Given the description of an element on the screen output the (x, y) to click on. 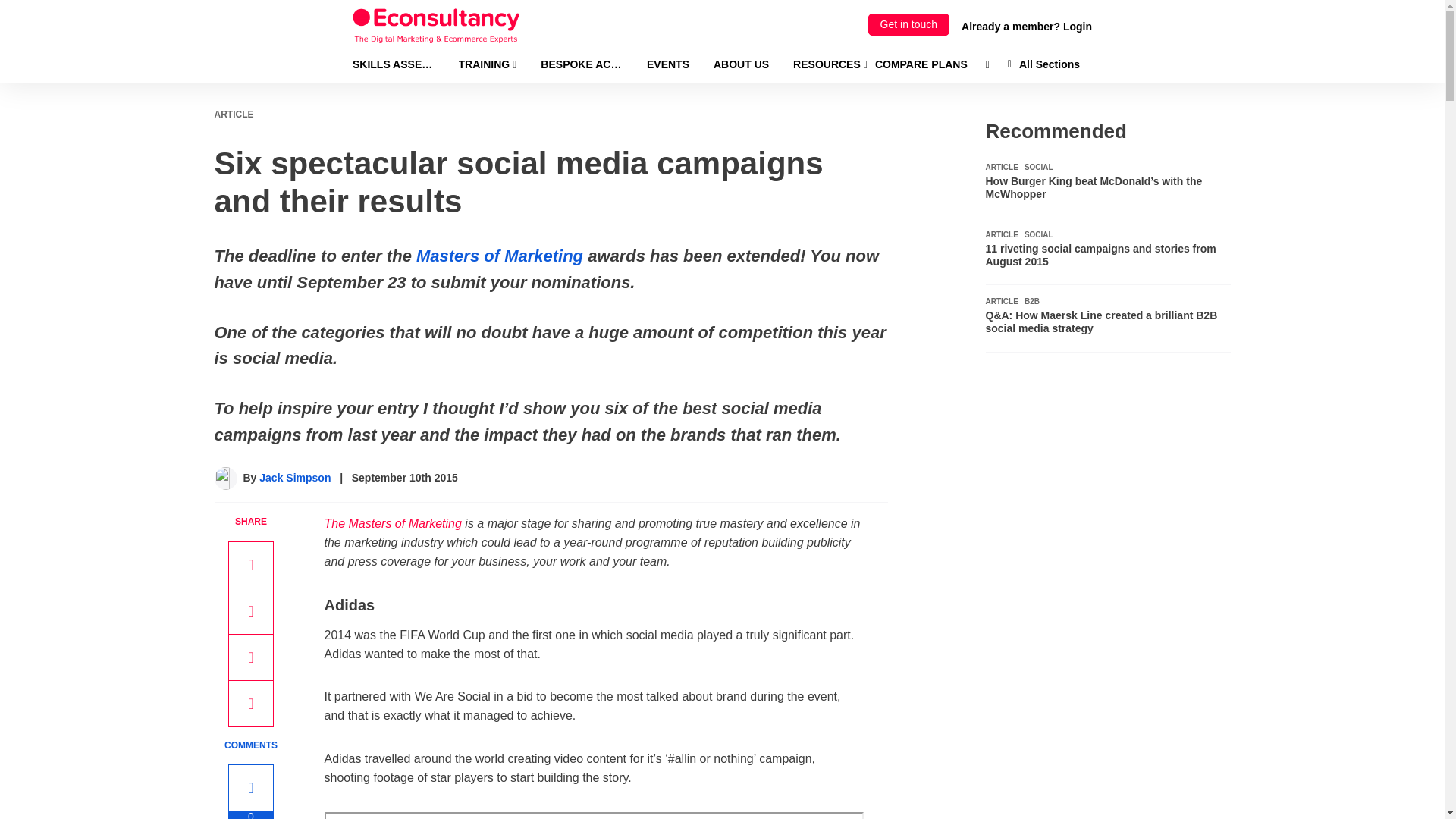
ABOUT US (740, 64)
Already a member? Login (1026, 26)
EVENTS (667, 64)
TRAINING (487, 64)
Get in touch (908, 24)
COMPARE PLANS (921, 64)
Posts by Jack Simpson (294, 477)
SKILLS ASSESSMENT (392, 64)
BESPOKE ACADEMIES (581, 64)
RESOURCES (830, 64)
All Sections (1043, 64)
